Given the description of an element on the screen output the (x, y) to click on. 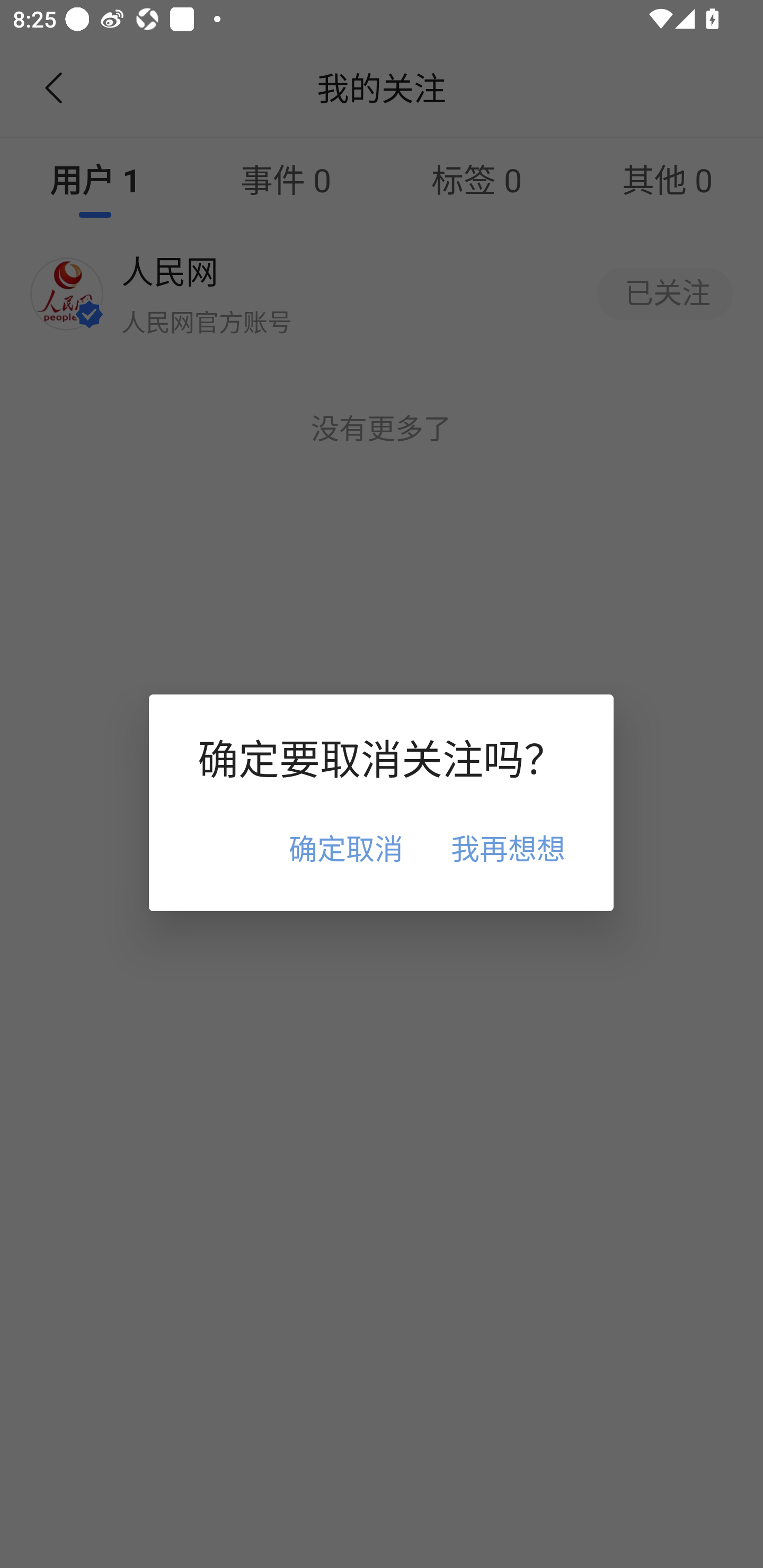
确定取消 (345, 848)
我再想想 (508, 848)
